Given the description of an element on the screen output the (x, y) to click on. 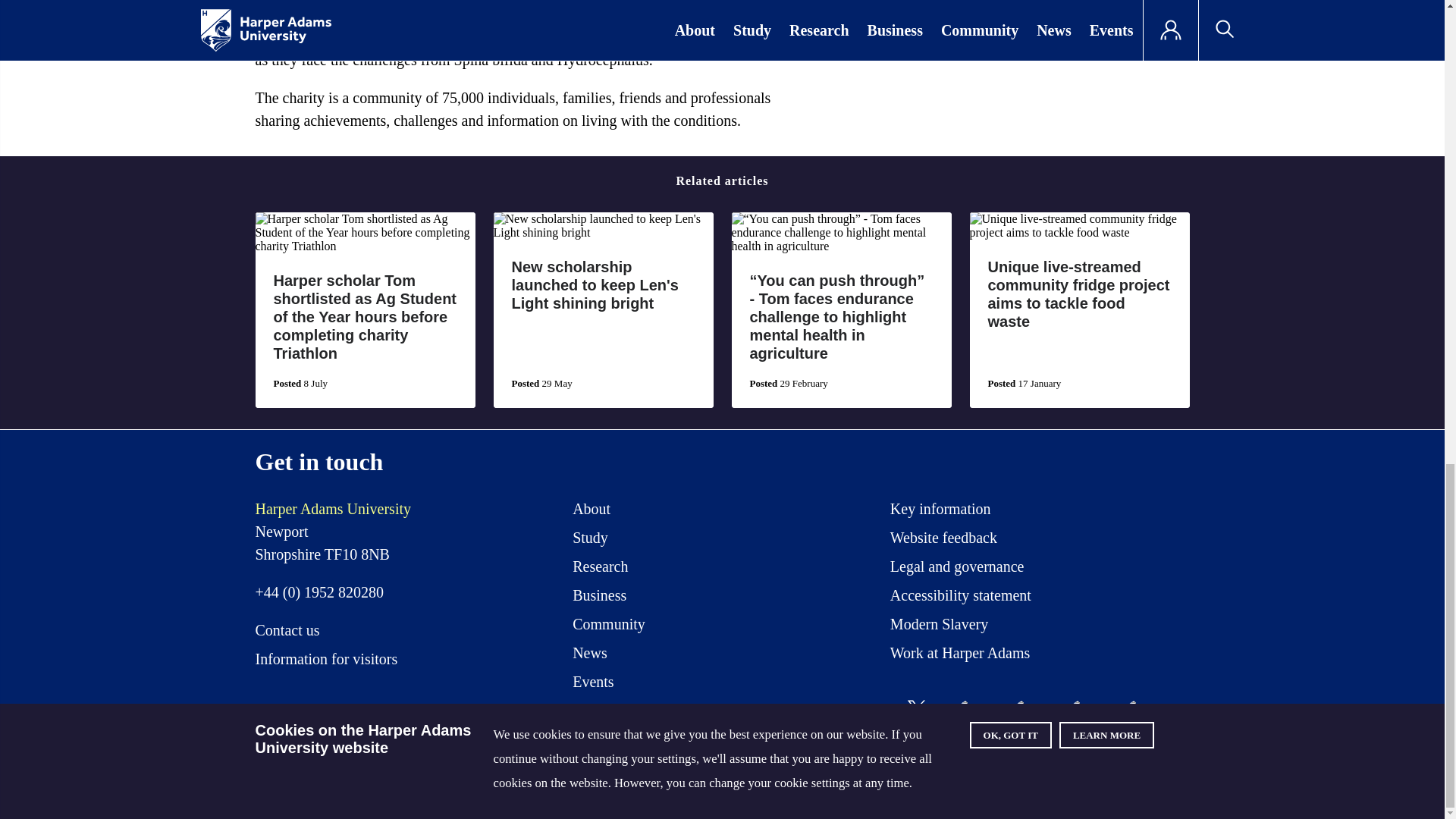
Vimeo - opens in a new window (1084, 716)
Facebook - opens in a new window (972, 716)
Instagram - opens in a new window (1028, 716)
Modern Slavery Act PDF - opens in a new window (938, 626)
X - opens in a new window (916, 708)
LinkedIn - opens in a new window (1141, 716)
